Given the description of an element on the screen output the (x, y) to click on. 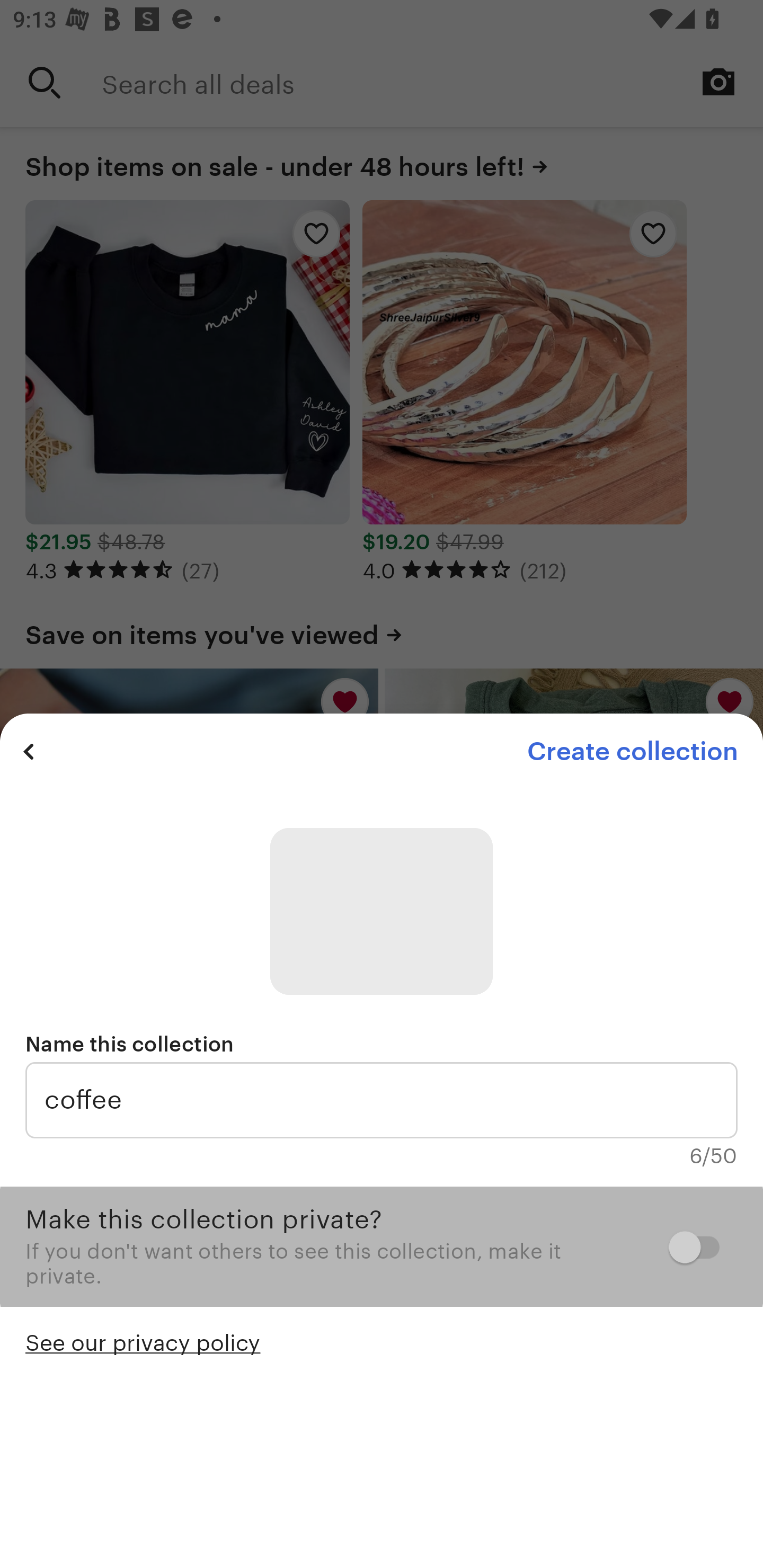
Previous (28, 751)
Create collection (632, 751)
coffee (381, 1099)
See our privacy policy (142, 1341)
